Given the description of an element on the screen output the (x, y) to click on. 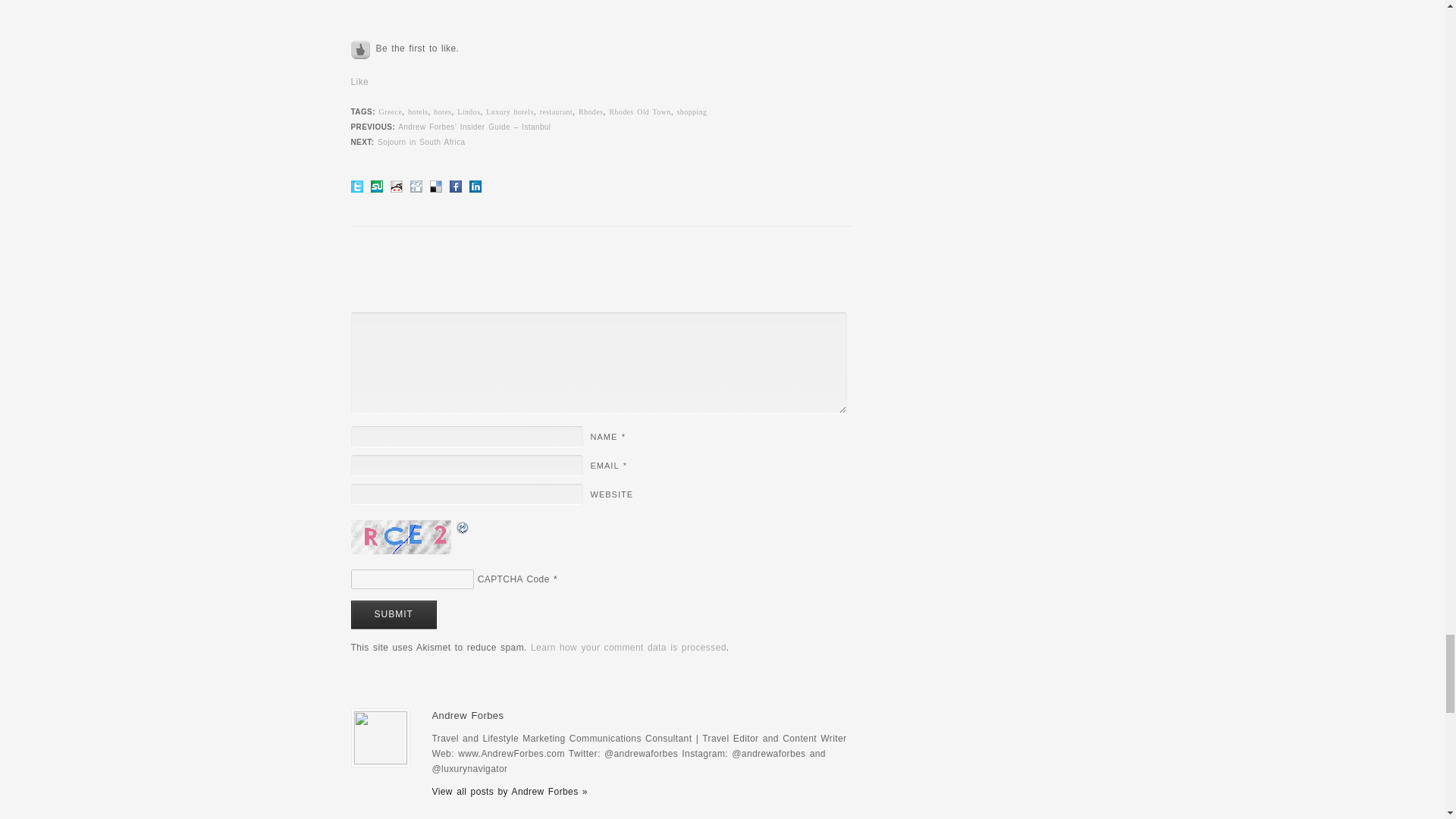
CAPTCHA (402, 537)
Submit (392, 614)
Like (359, 81)
Refresh (462, 527)
Greece (390, 111)
